Given the description of an element on the screen output the (x, y) to click on. 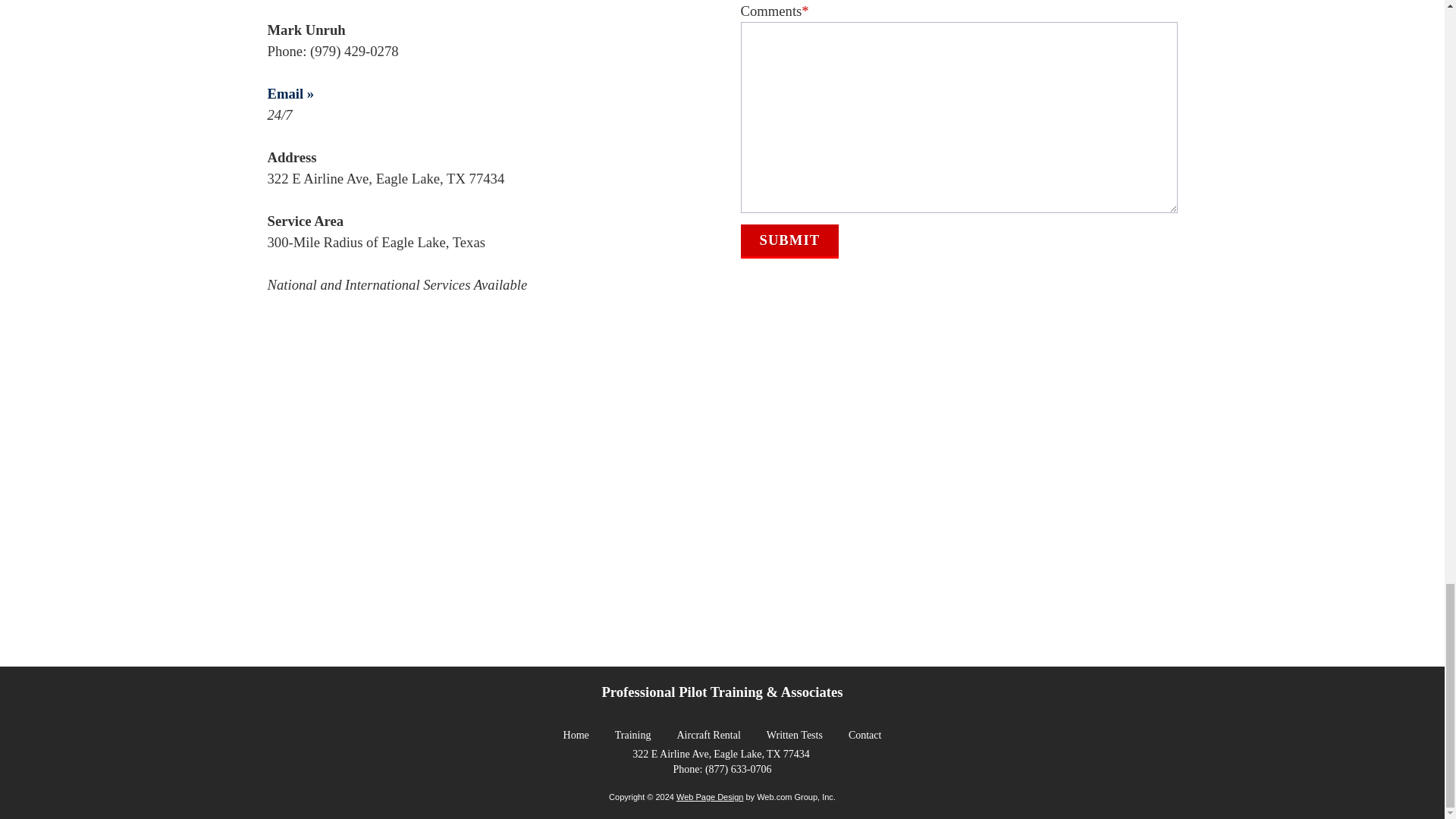
Aircraft Rental (708, 734)
Written Tests (794, 734)
Web Page Design (709, 796)
Contact (865, 734)
Submit (788, 240)
Home (576, 734)
Training (632, 734)
Submit (788, 240)
